Given the description of an element on the screen output the (x, y) to click on. 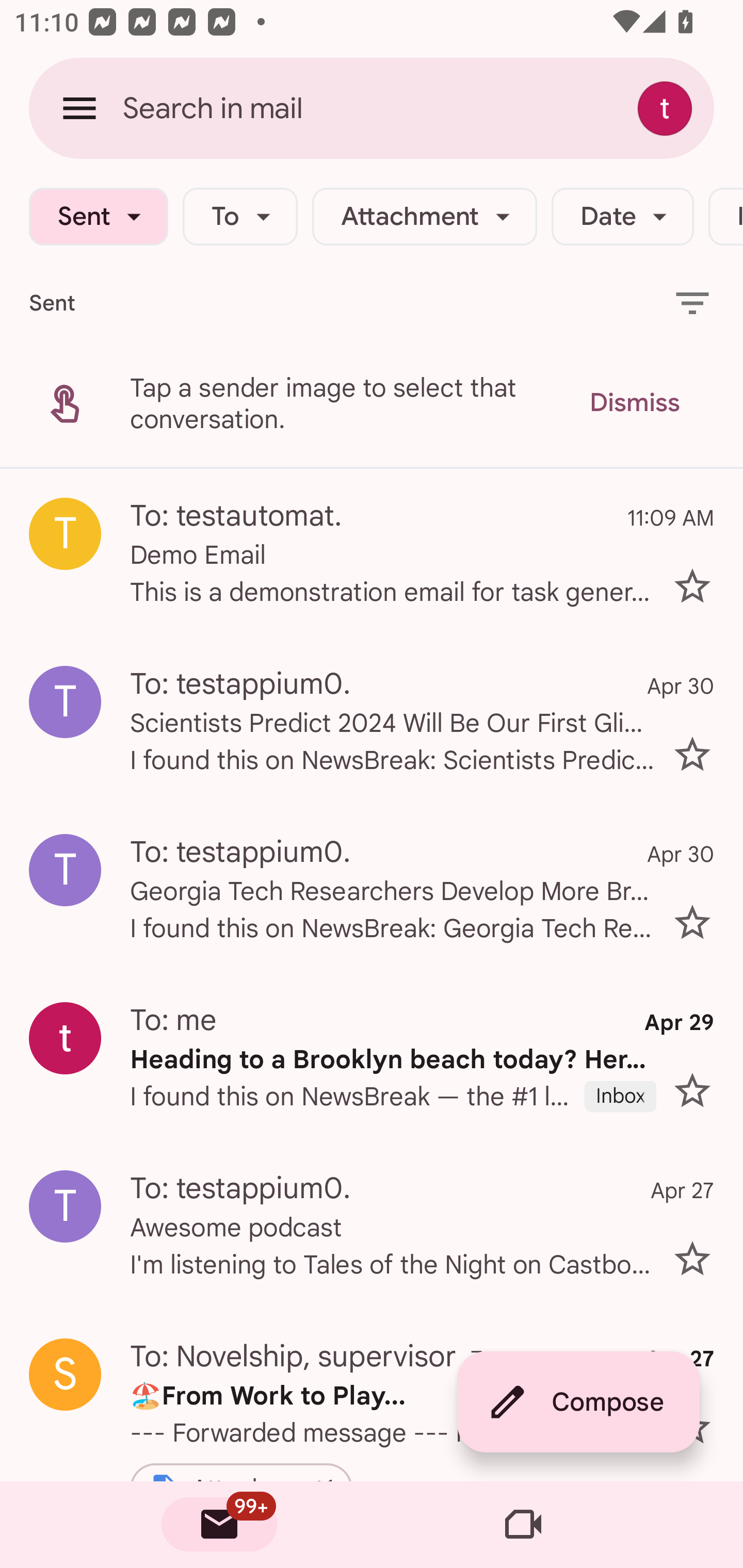
Open navigation drawer (79, 108)
Sent (97, 217)
To (239, 217)
Attachment (424, 217)
Date (622, 217)
Filter icon (692, 302)
Dismiss Dismiss tip (634, 403)
Compose (577, 1401)
Meet (523, 1524)
